Given the description of an element on the screen output the (x, y) to click on. 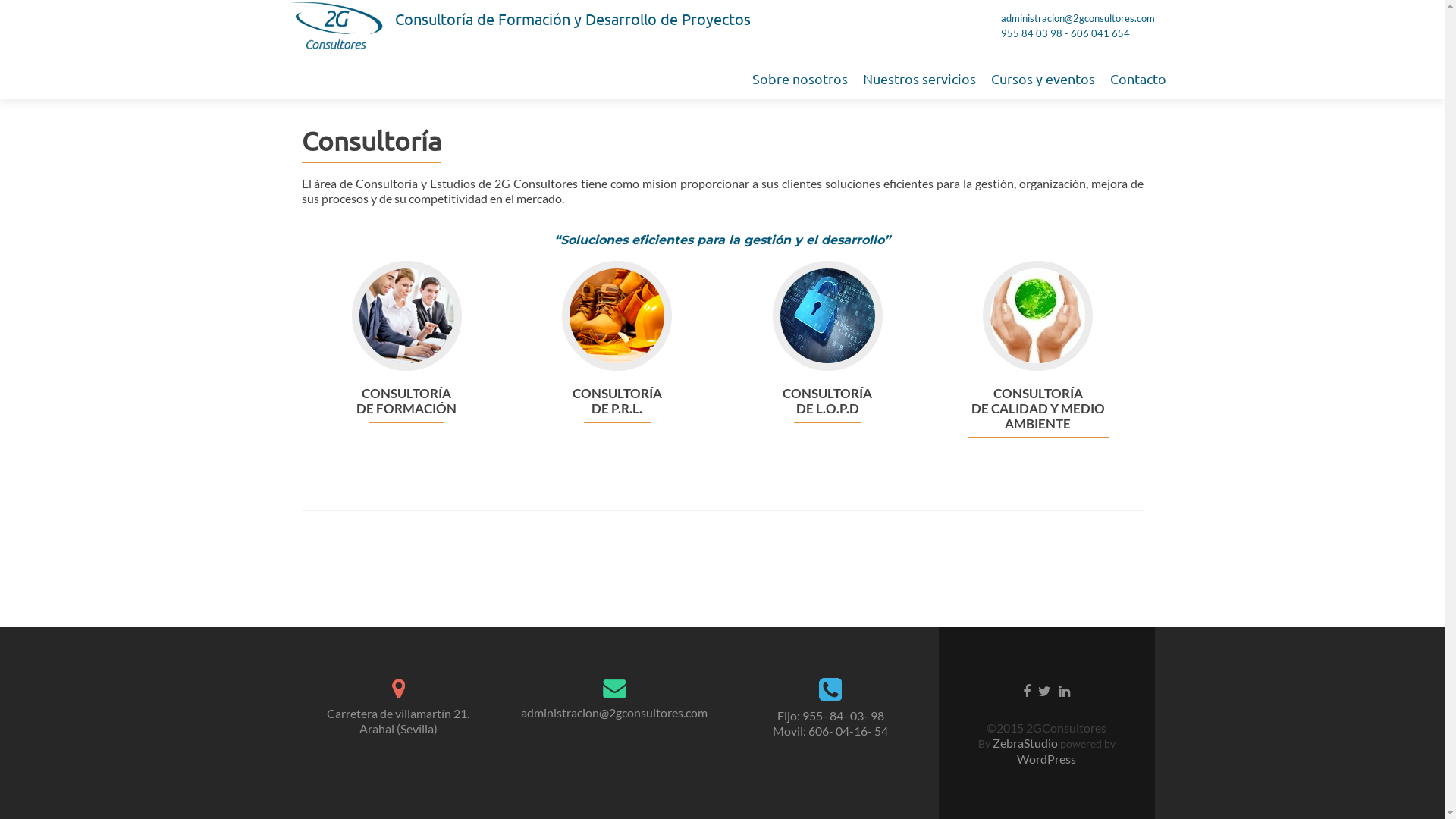
Cursos y eventos Element type: text (1042, 78)
WordPress Element type: text (1046, 758)
Contacto Element type: text (1138, 78)
Nuestros servicios Element type: text (918, 78)
administracion@2gconsultores.com Element type: text (613, 712)
Sobre nosotros Element type: text (799, 78)
ZebraStudio Element type: text (1025, 742)
